Given the description of an element on the screen output the (x, y) to click on. 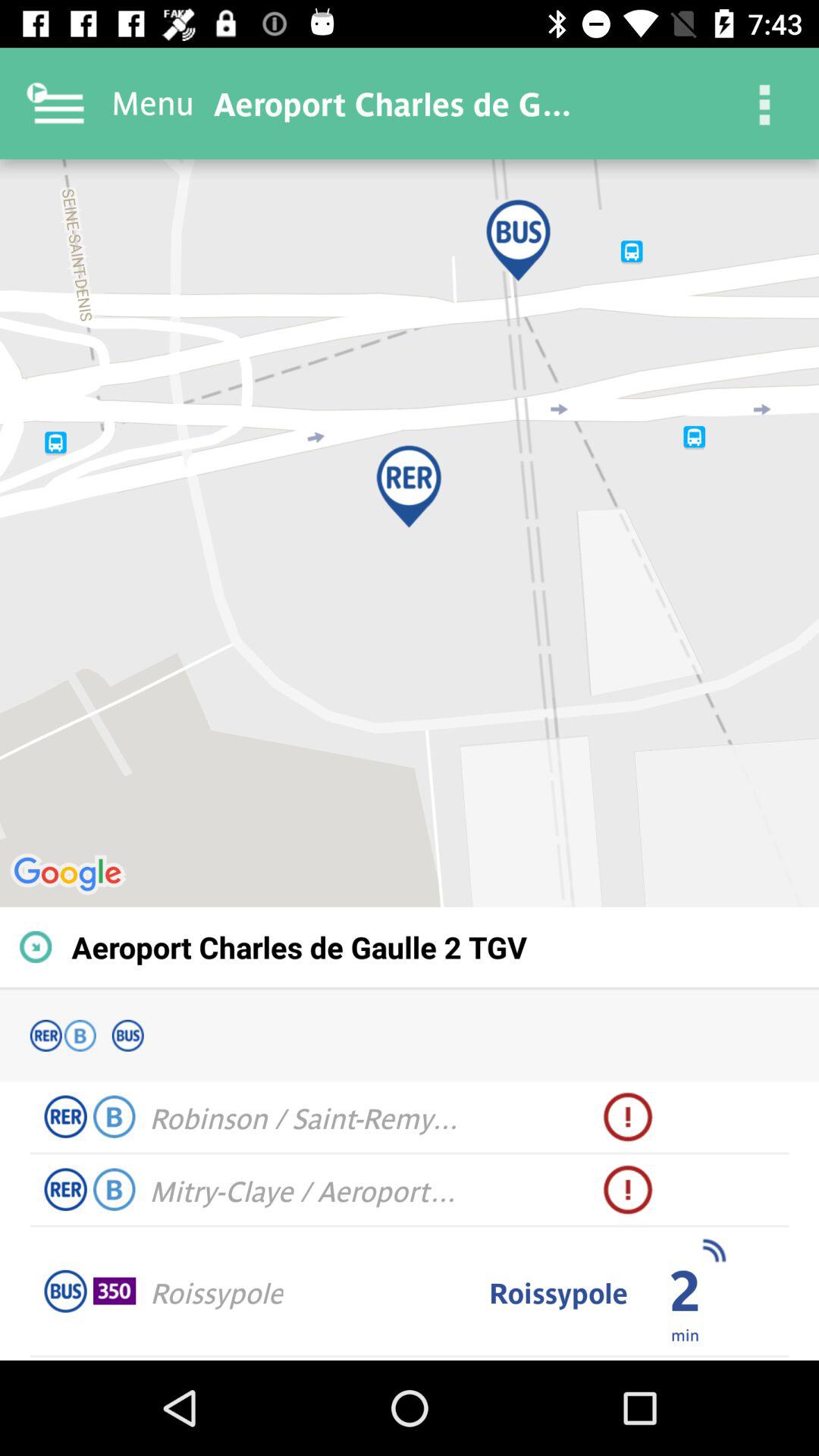
open item to the right of the robinson saint remy (627, 1117)
